Given the description of an element on the screen output the (x, y) to click on. 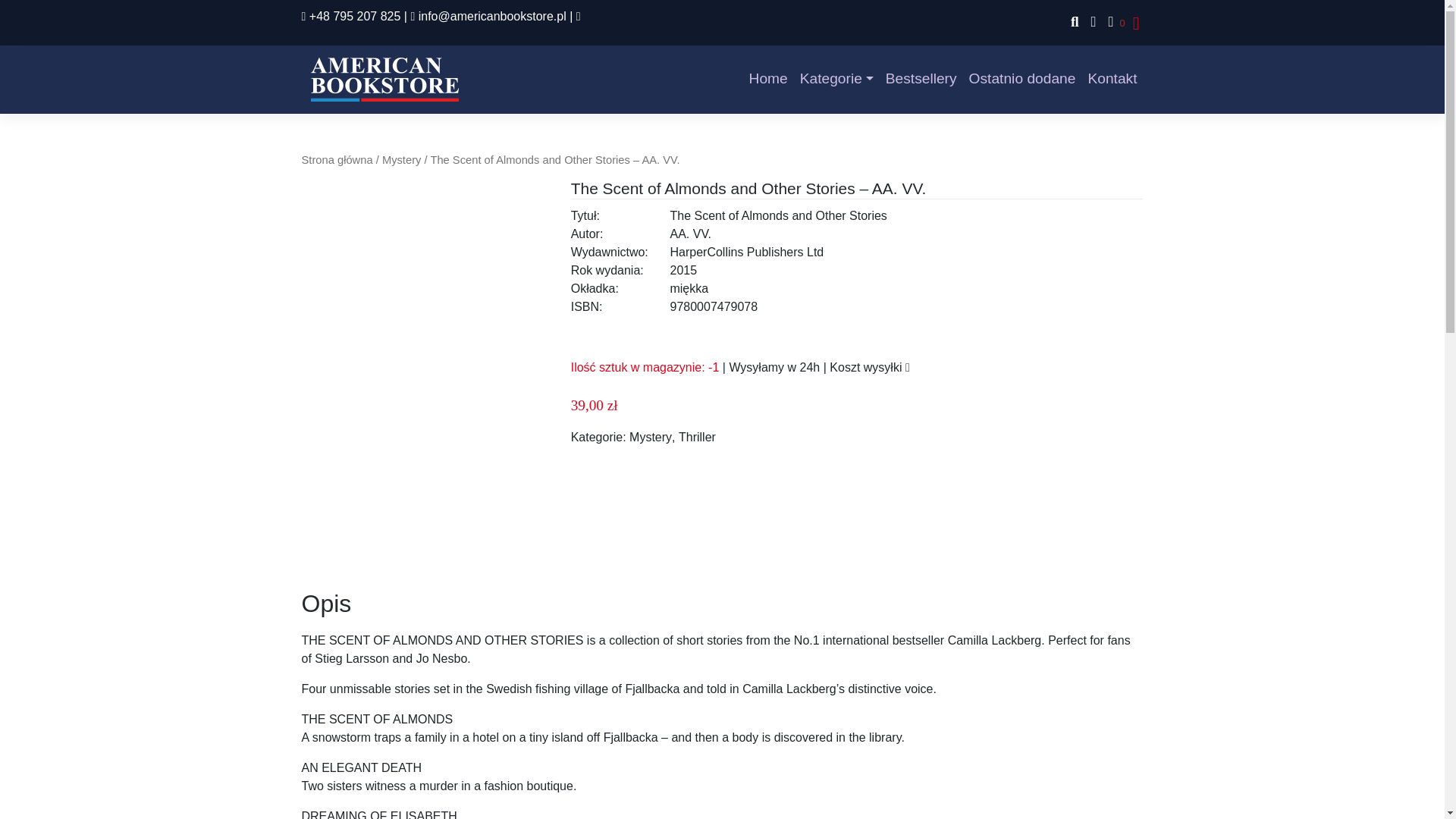
Kategorie (836, 79)
0 (1113, 22)
Home (767, 79)
Kategorie (836, 79)
Home (767, 79)
